Given the description of an element on the screen output the (x, y) to click on. 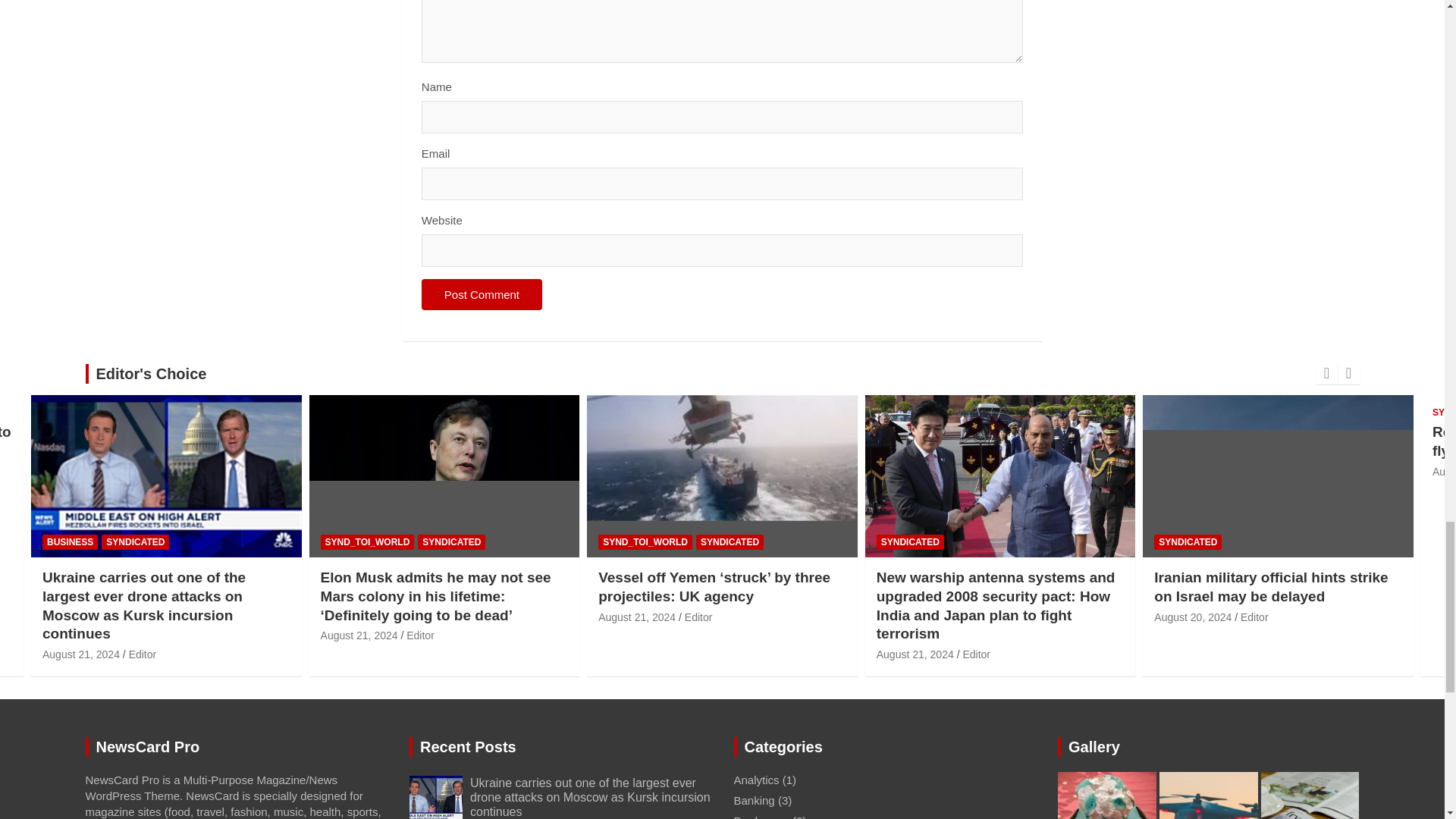
Post Comment (481, 294)
Post Comment (481, 294)
